Given the description of an element on the screen output the (x, y) to click on. 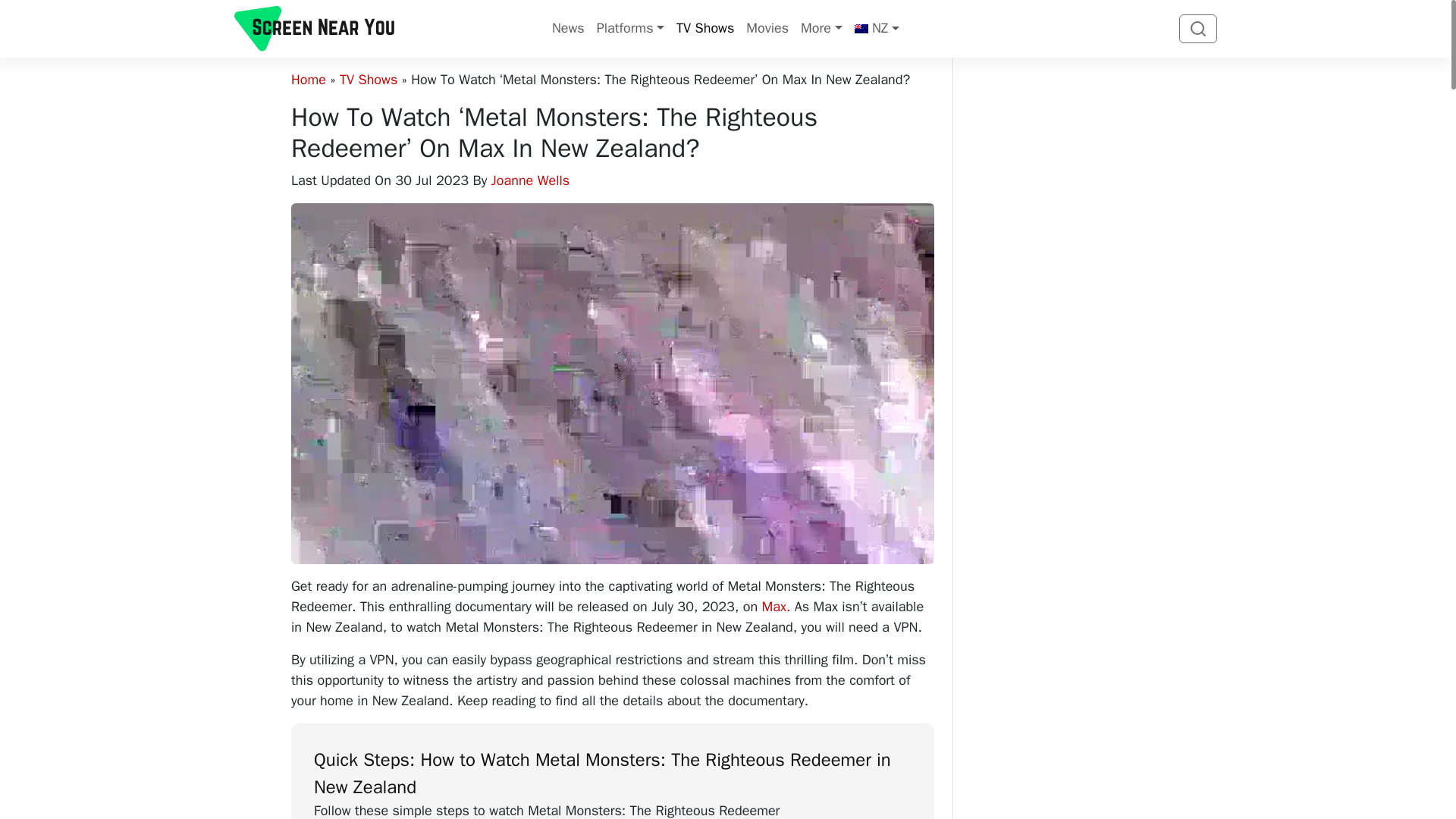
Platforms (630, 28)
More (820, 28)
TV Shows (704, 28)
NZ (876, 28)
News (568, 28)
NZ (876, 28)
Movies (766, 28)
